Given the description of an element on the screen output the (x, y) to click on. 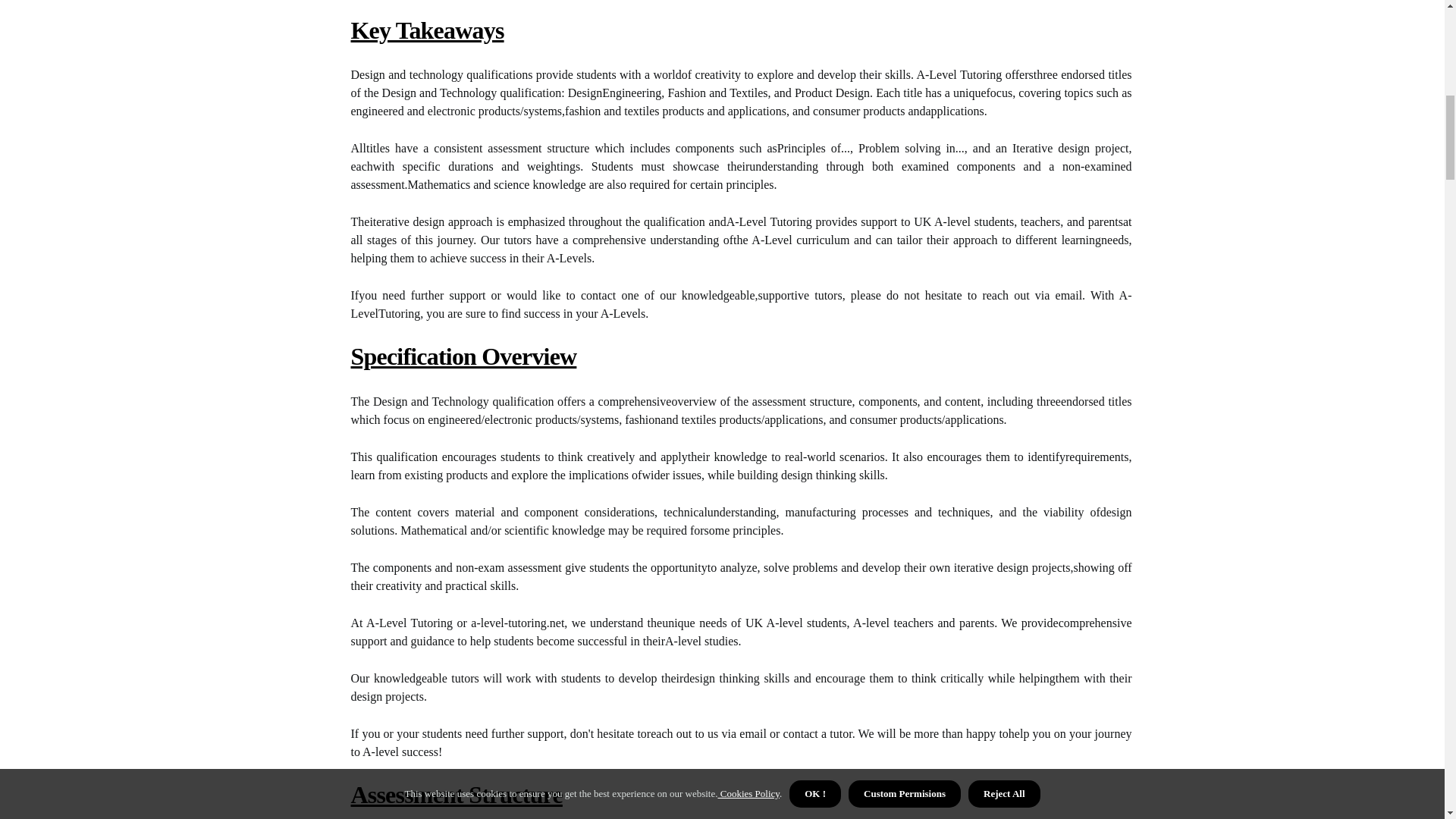
Assessment Structure (456, 794)
Specification Overview (463, 356)
Key Takeaways (426, 30)
